Given the description of an element on the screen output the (x, y) to click on. 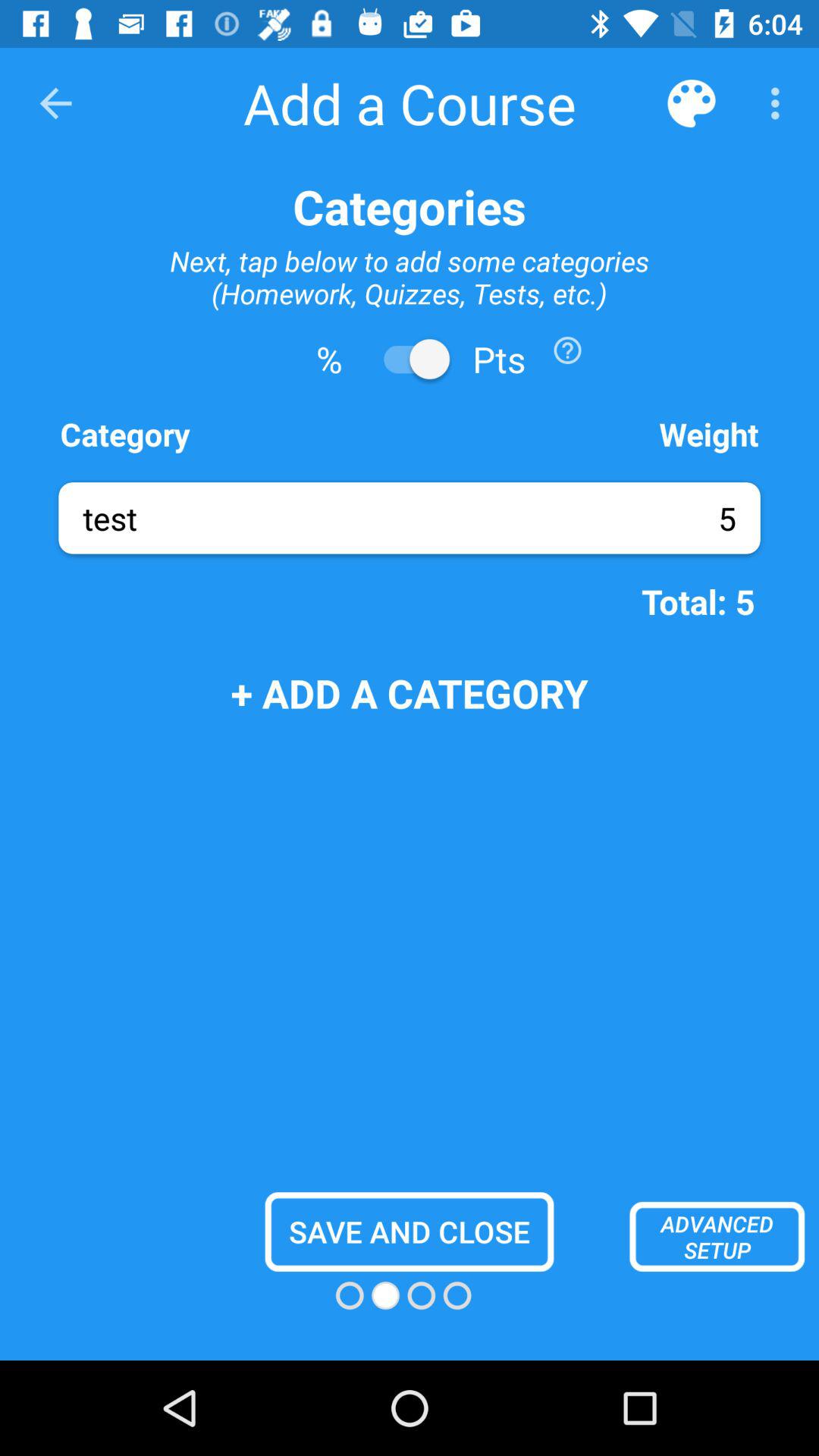
select item next to the save and close icon (716, 1236)
